Given the description of an element on the screen output the (x, y) to click on. 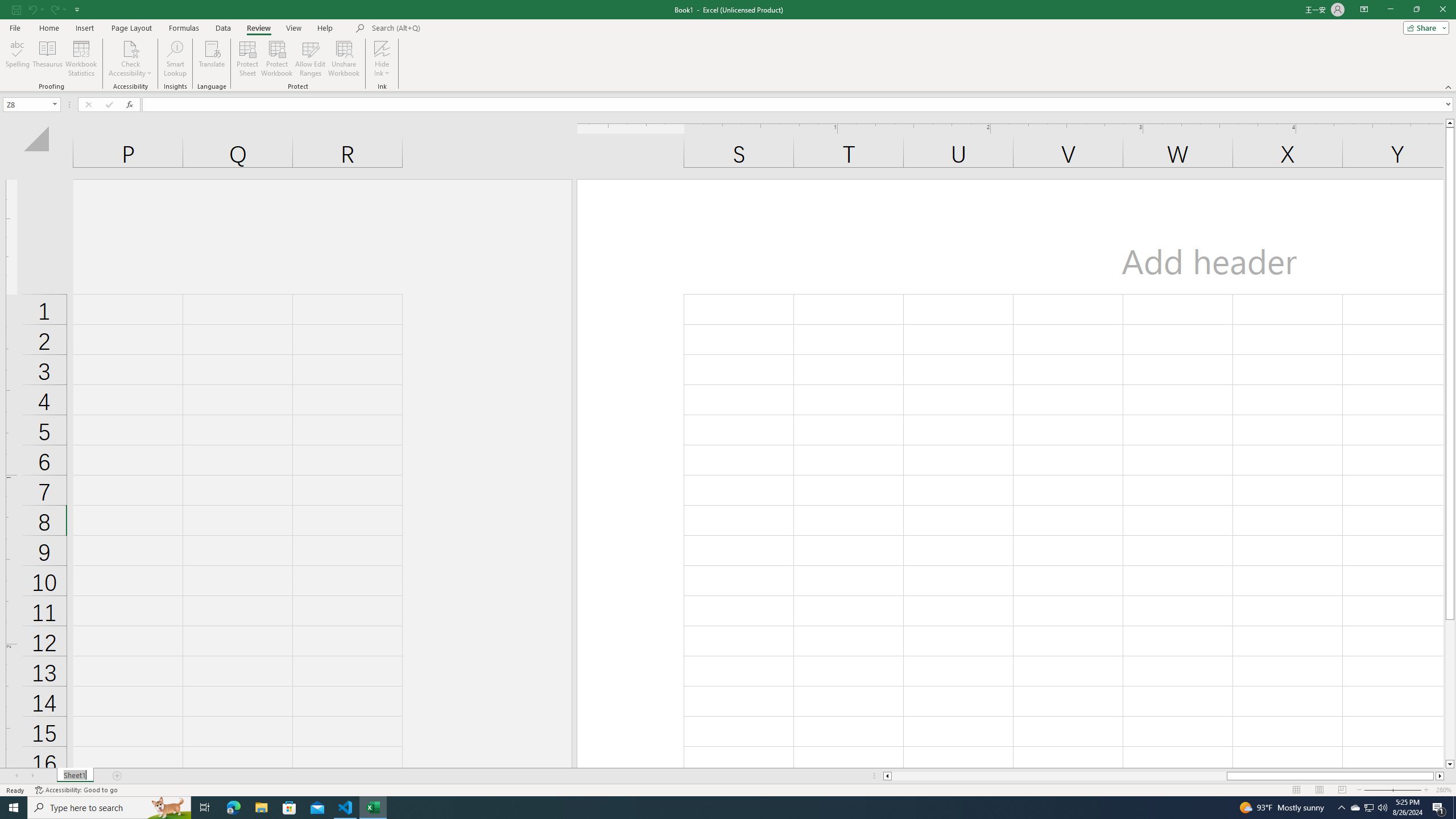
Normal (1296, 790)
Minimize (1390, 9)
Open (54, 104)
Scroll Left (16, 775)
Unshare Workbook (344, 58)
Add Sheet (117, 775)
